Given the description of an element on the screen output the (x, y) to click on. 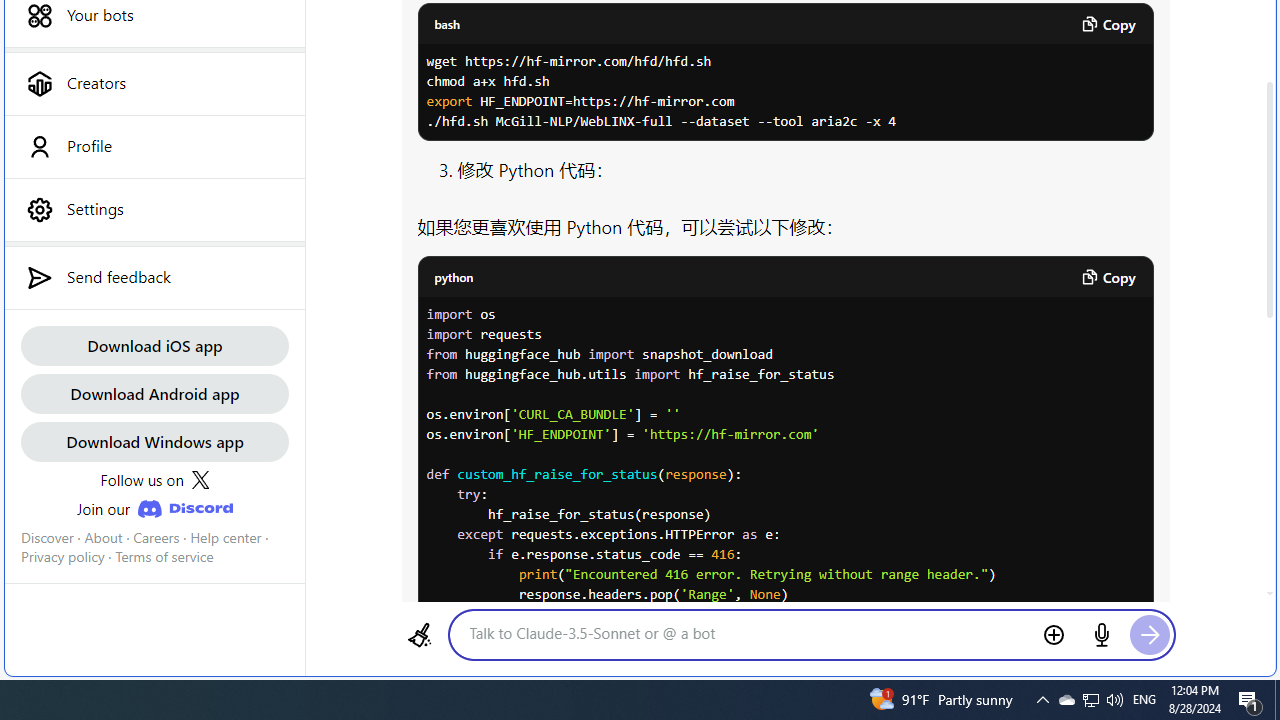
Download iOS app (154, 344)
Join our (154, 508)
Copy (1107, 276)
Creators (154, 83)
Profile (154, 146)
Terms of service (164, 557)
Privacy policy (62, 557)
Send feedback (154, 277)
Class: FollowTwitterLink_twitterIconBlack__SS_7V (199, 480)
Class: JoinDiscordLink_discordIcon__Xw13A (184, 509)
